Given the description of an element on the screen output the (x, y) to click on. 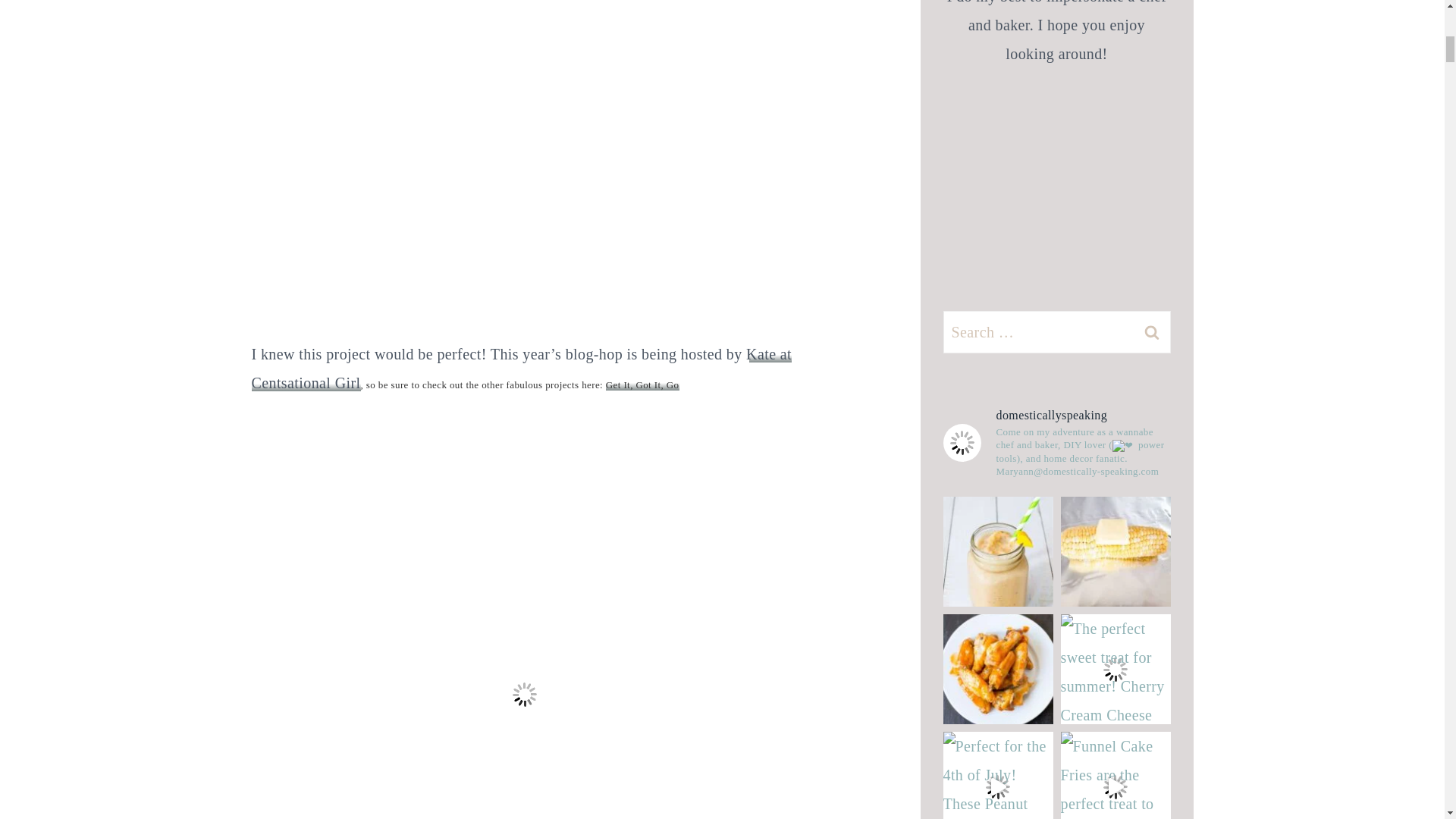
Search (1151, 331)
Search (1151, 331)
